Given the description of an element on the screen output the (x, y) to click on. 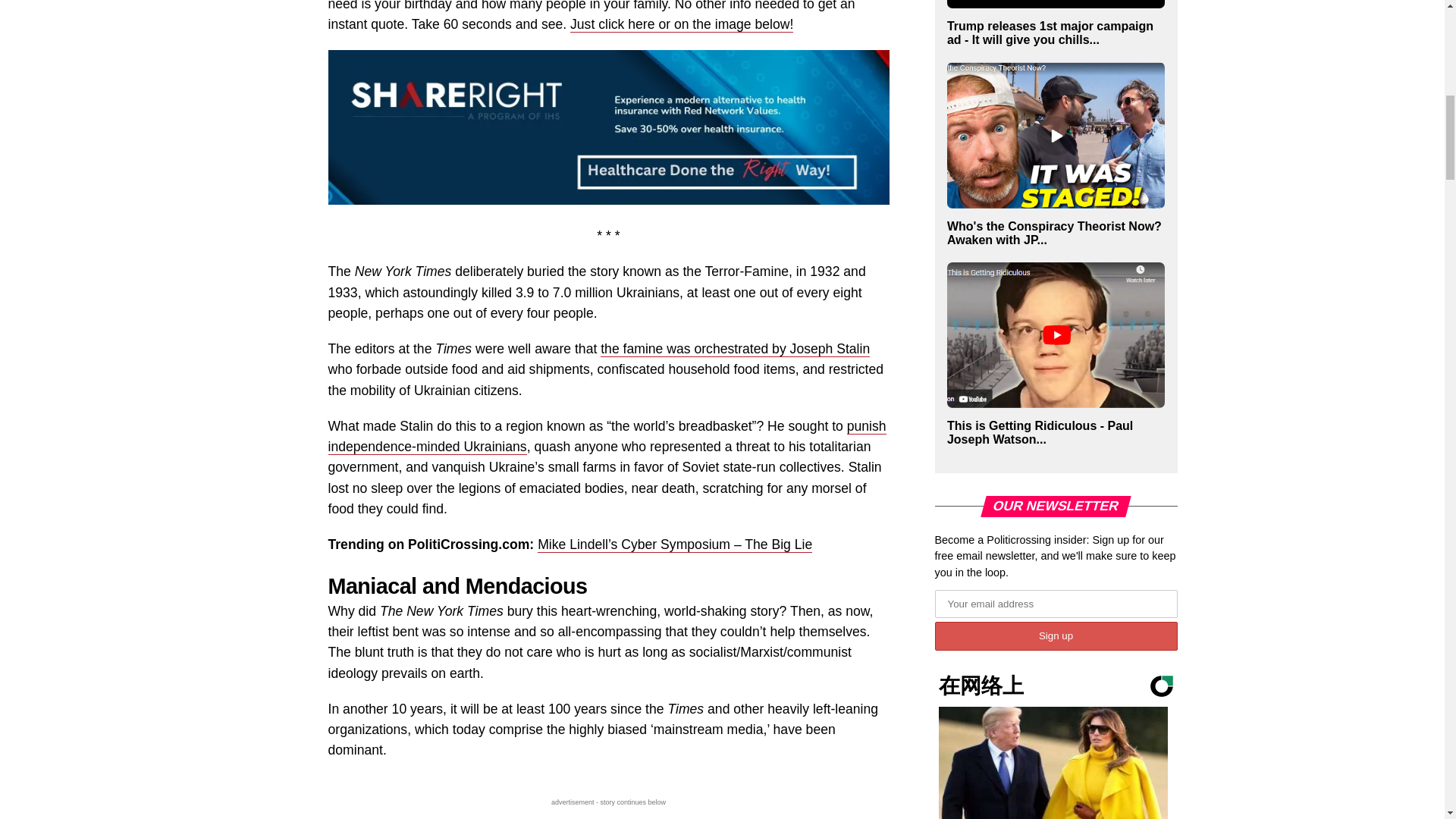
the famine was orchestrated by Joseph Stalin (734, 349)
Just click here or on the image below! (681, 24)
Sign up (1055, 635)
punish independence-minded Ukrainians (606, 436)
